Given the description of an element on the screen output the (x, y) to click on. 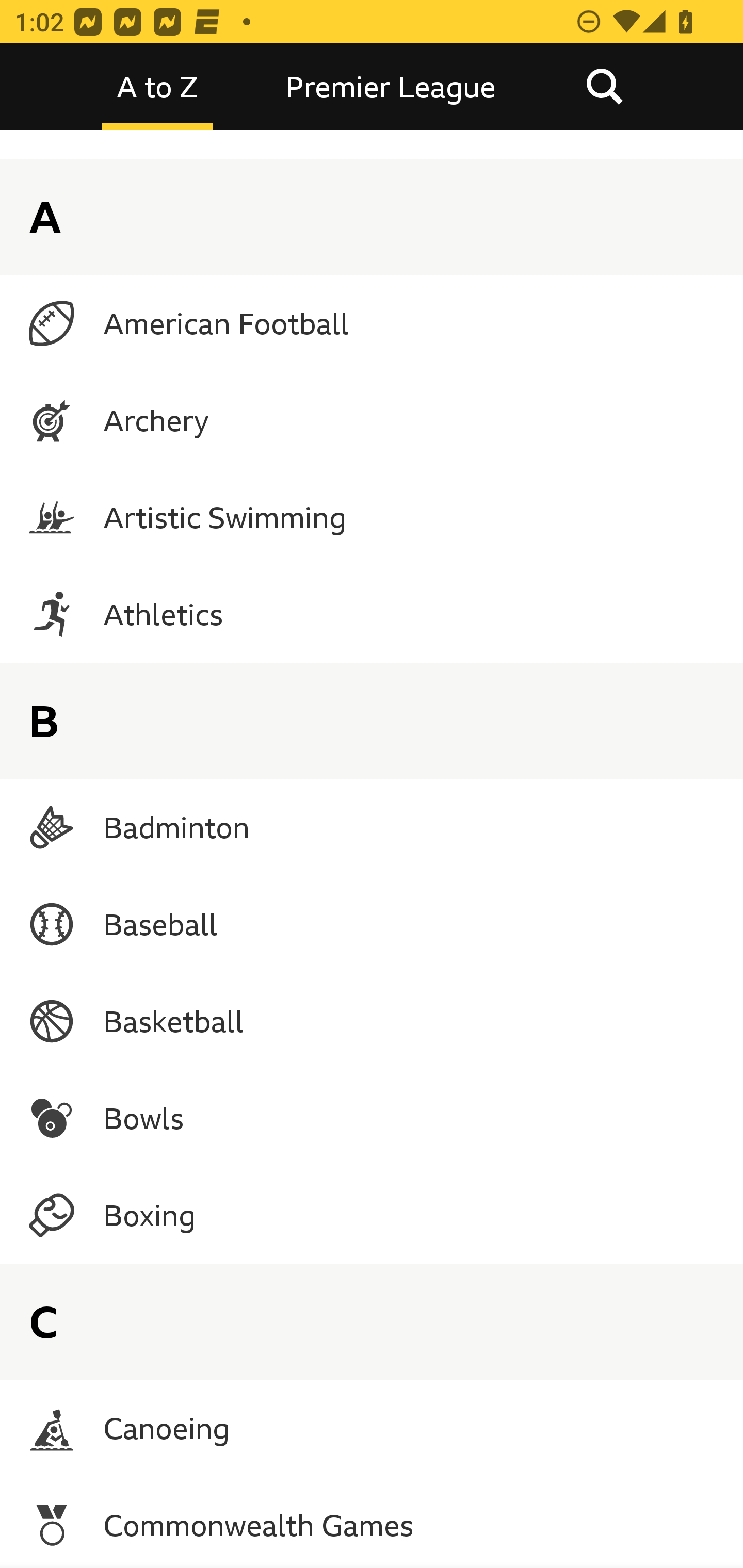
Premier League (390, 86)
Search (604, 86)
American Football (371, 322)
Archery (371, 419)
Artistic Swimming (371, 517)
Athletics (371, 614)
Badminton (371, 827)
Baseball (371, 924)
Basketball (371, 1020)
Bowls (371, 1117)
Boxing (371, 1214)
Canoeing (371, 1428)
Commonwealth Games (371, 1522)
